Given the description of an element on the screen output the (x, y) to click on. 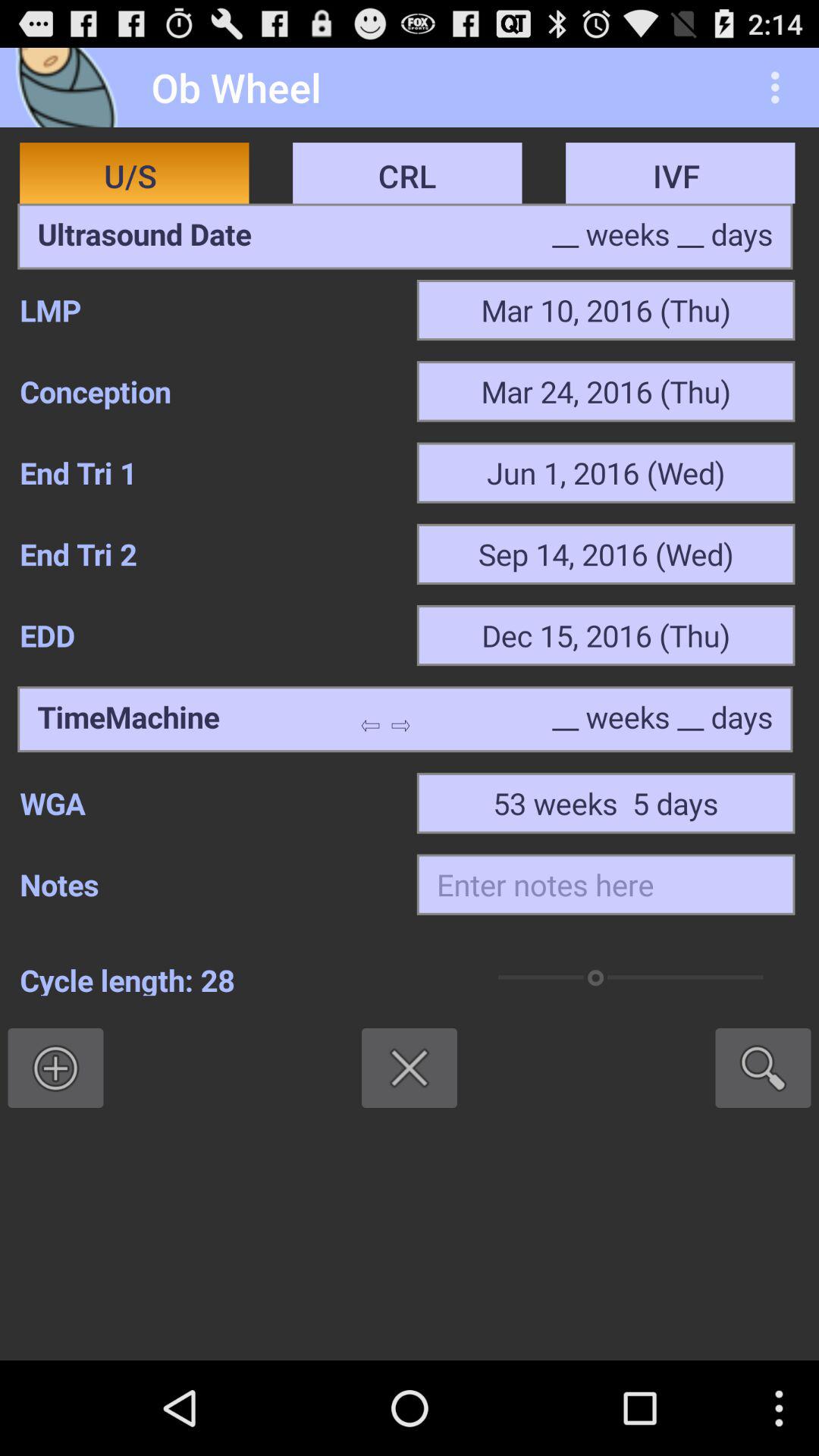
enter the weeks and days (662, 719)
